Given the description of an element on the screen output the (x, y) to click on. 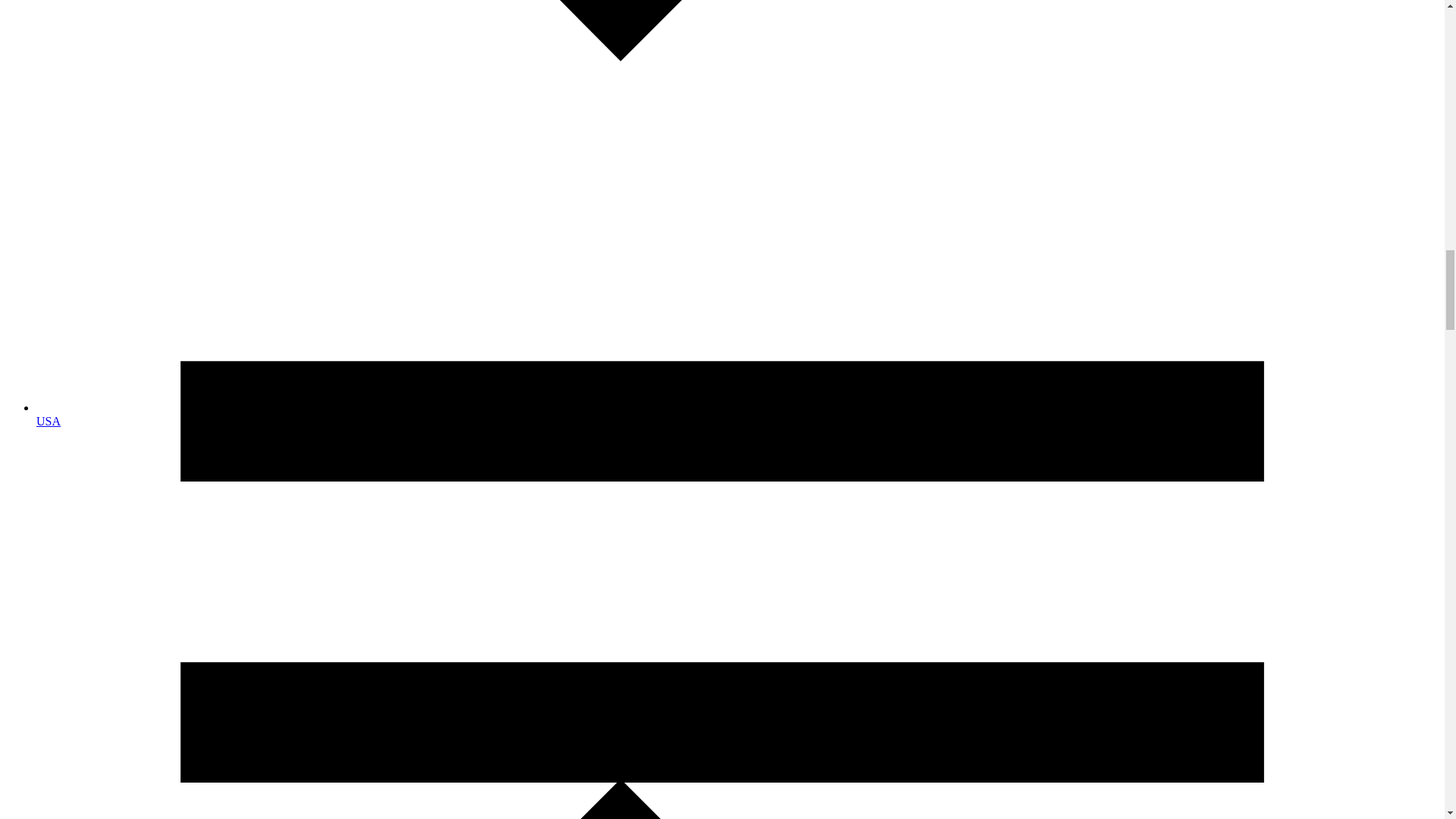
USA (48, 420)
